Given the description of an element on the screen output the (x, y) to click on. 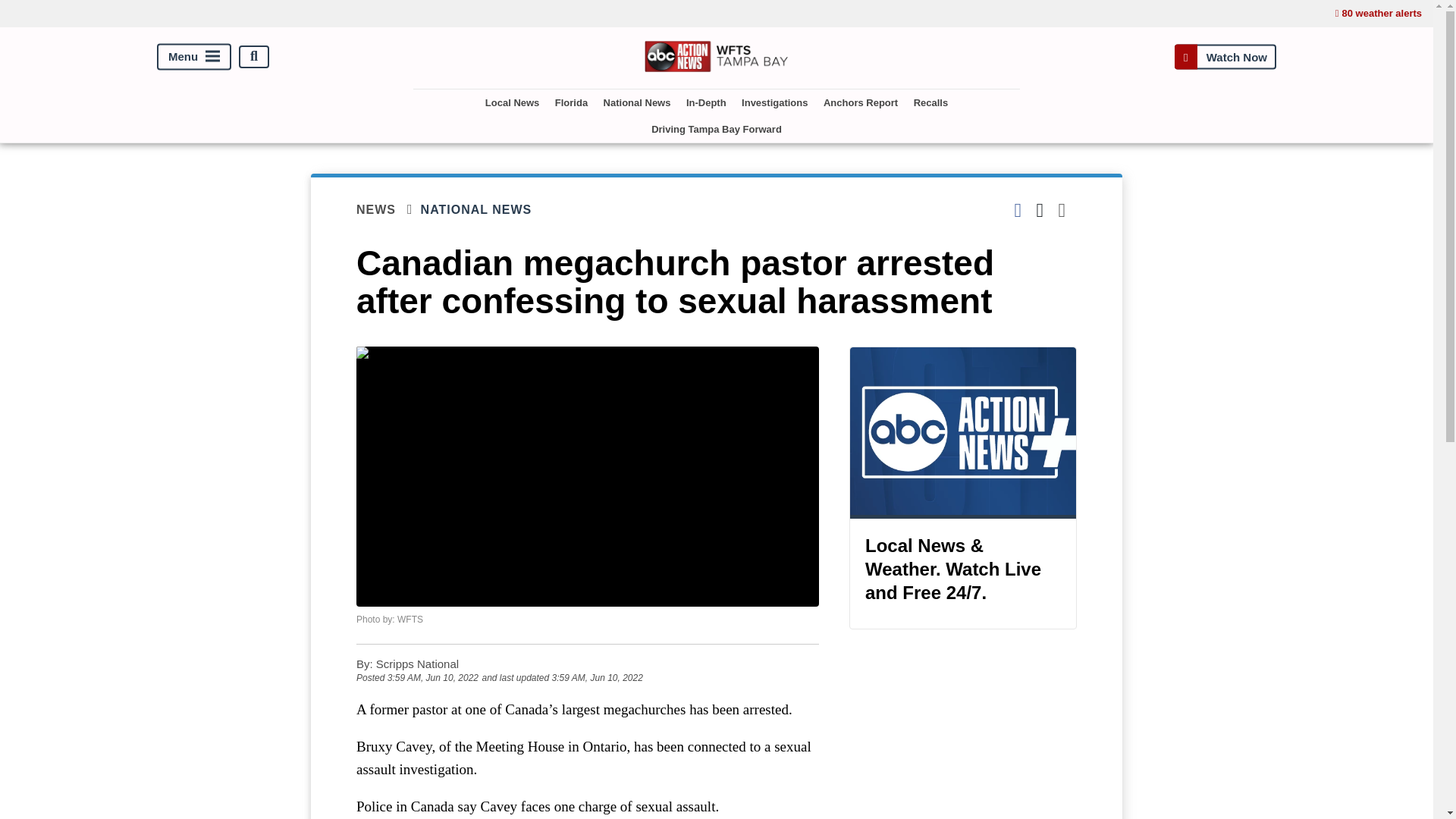
Menu (194, 56)
Watch Now (1224, 56)
